Given the description of an element on the screen output the (x, y) to click on. 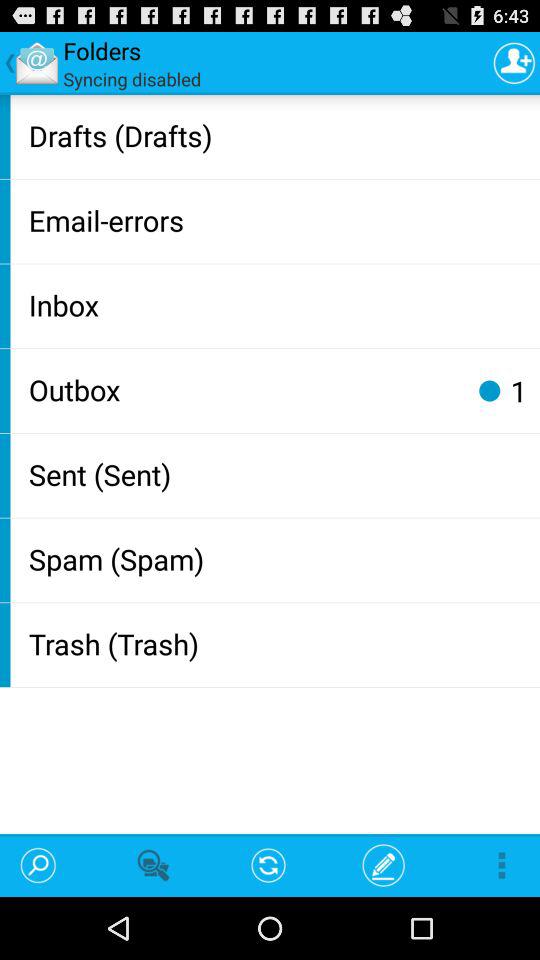
select icon above sent (sent) icon (489, 390)
